Given the description of an element on the screen output the (x, y) to click on. 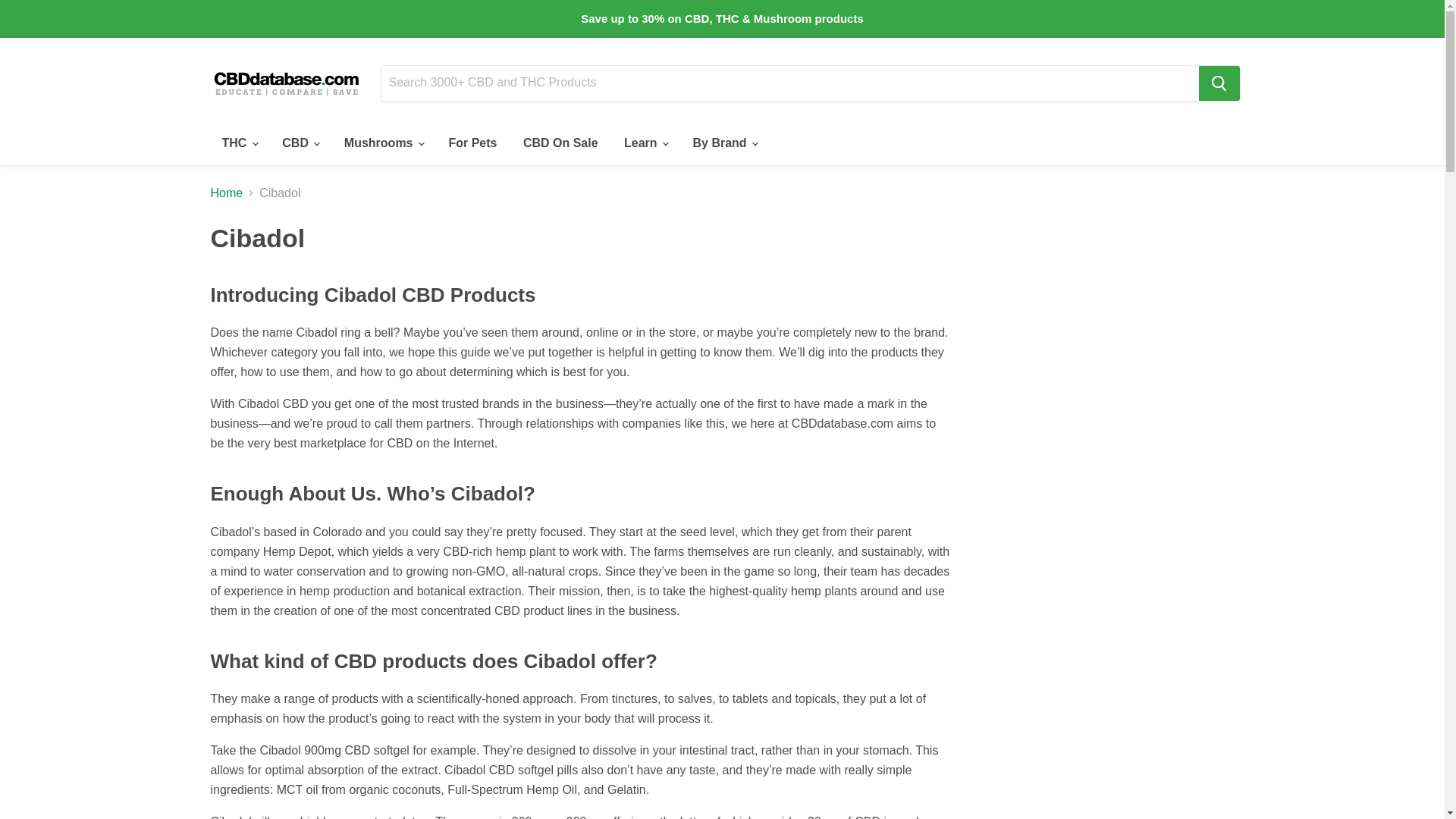
Mushrooms (383, 142)
THC (239, 142)
CBD (299, 142)
